Given the description of an element on the screen output the (x, y) to click on. 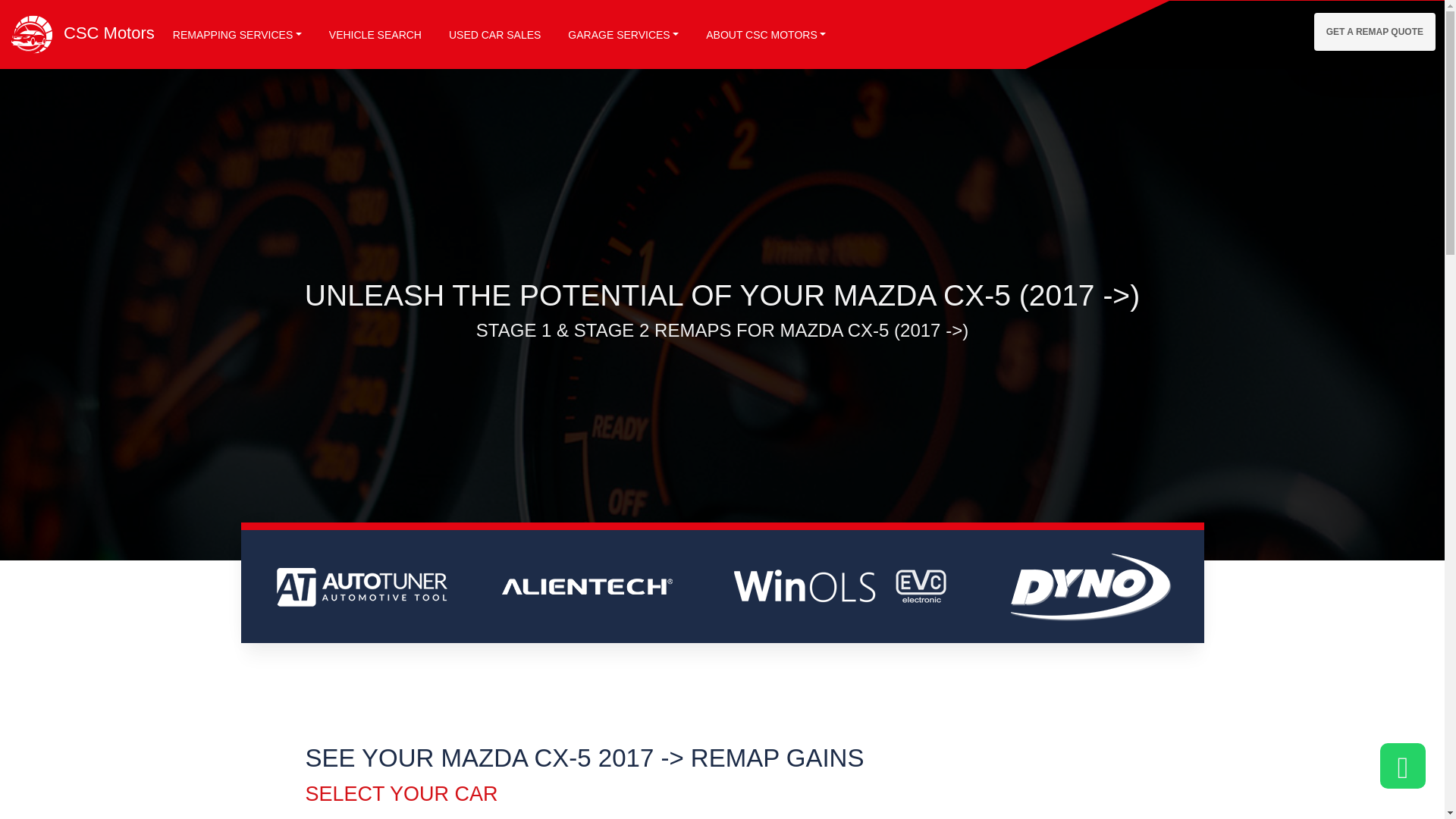
ABOUT CSC MOTORS (765, 34)
GET A REMAP QUOTE (1374, 31)
CSC Motors (81, 32)
VEHICLE SEARCH (375, 34)
USED CAR SALES (494, 34)
GARAGE SERVICES (623, 34)
REMAPPING SERVICES (237, 34)
